Given the description of an element on the screen output the (x, y) to click on. 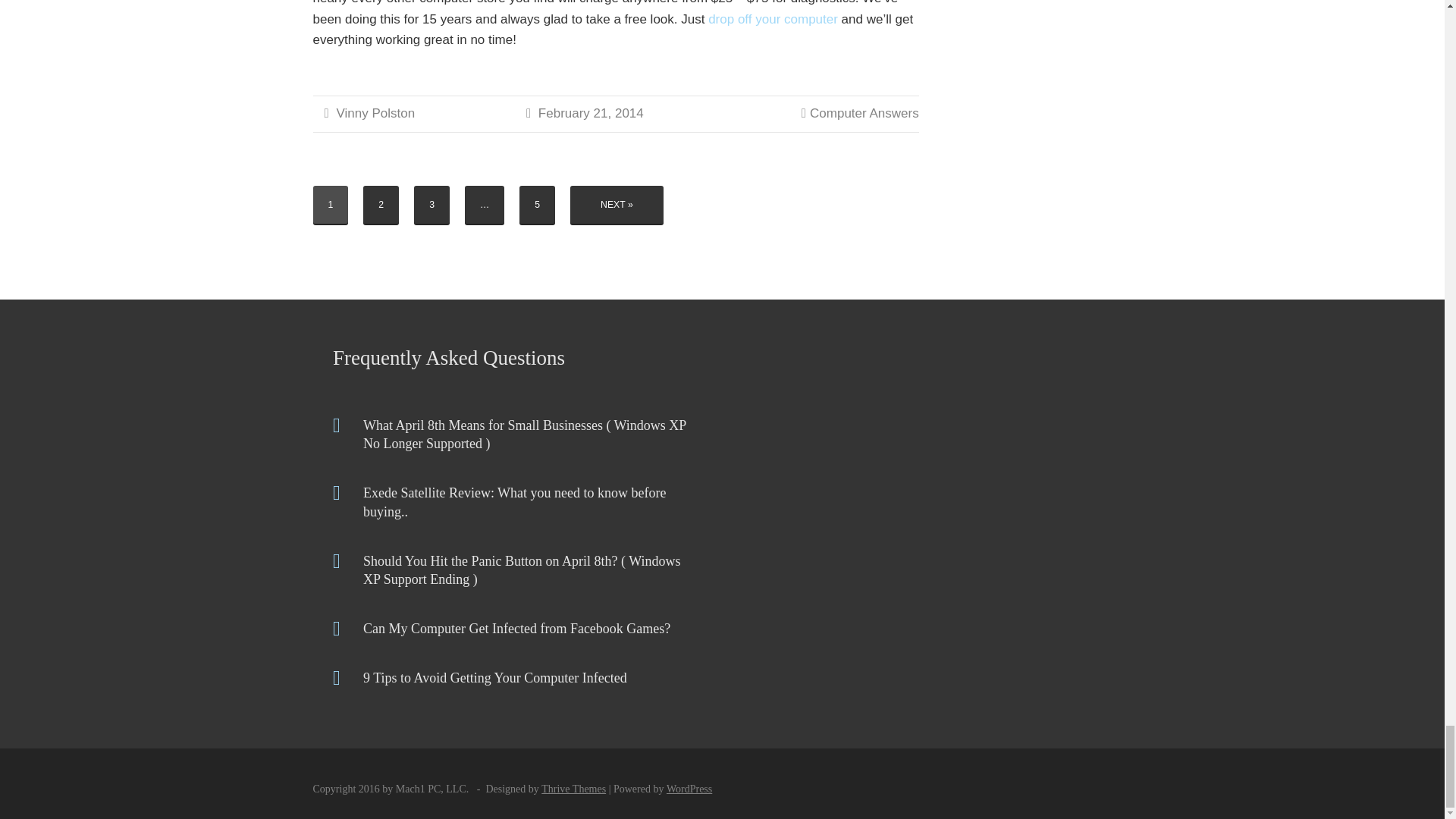
Computer Answers (863, 113)
Vinny Polston (375, 113)
5 (536, 204)
2 (380, 204)
drop off your computer (772, 19)
3 (431, 204)
